Given the description of an element on the screen output the (x, y) to click on. 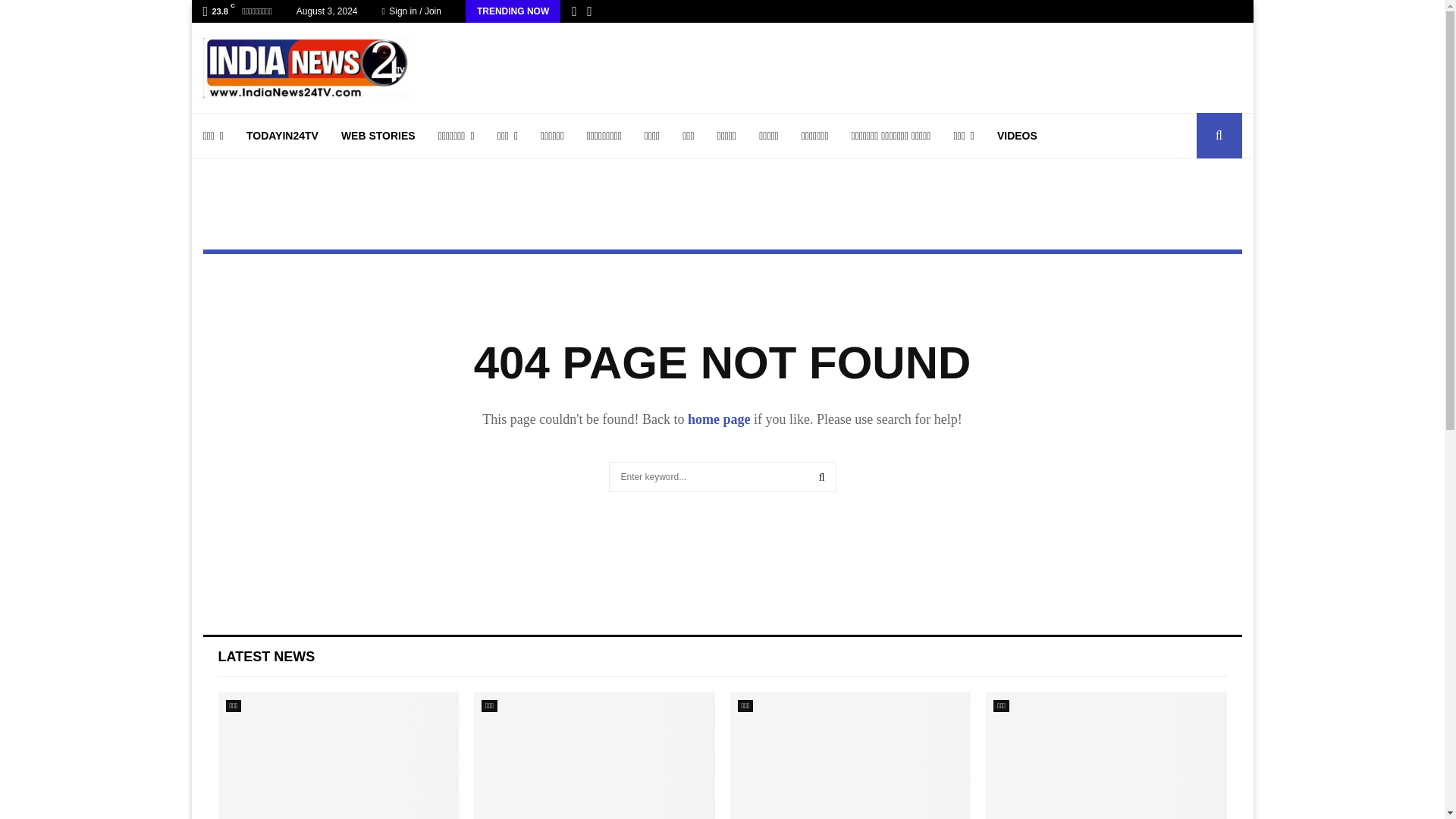
Login to your account (722, 293)
Latest News (266, 656)
TODAYIN24TV (282, 135)
WEB STORIES (377, 135)
Sign up new account (722, 415)
